Given the description of an element on the screen output the (x, y) to click on. 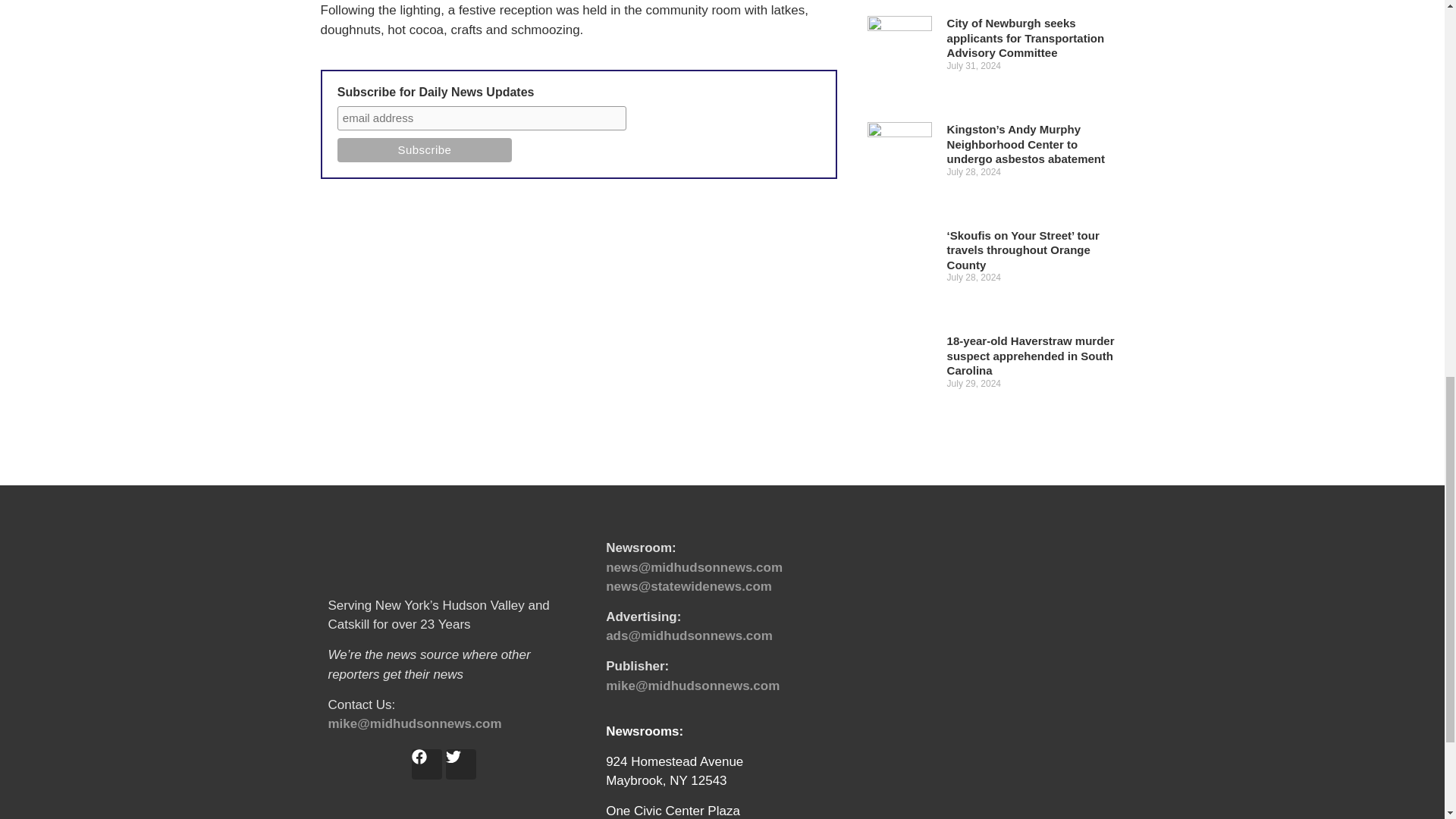
Subscribe (424, 150)
